Given the description of an element on the screen output the (x, y) to click on. 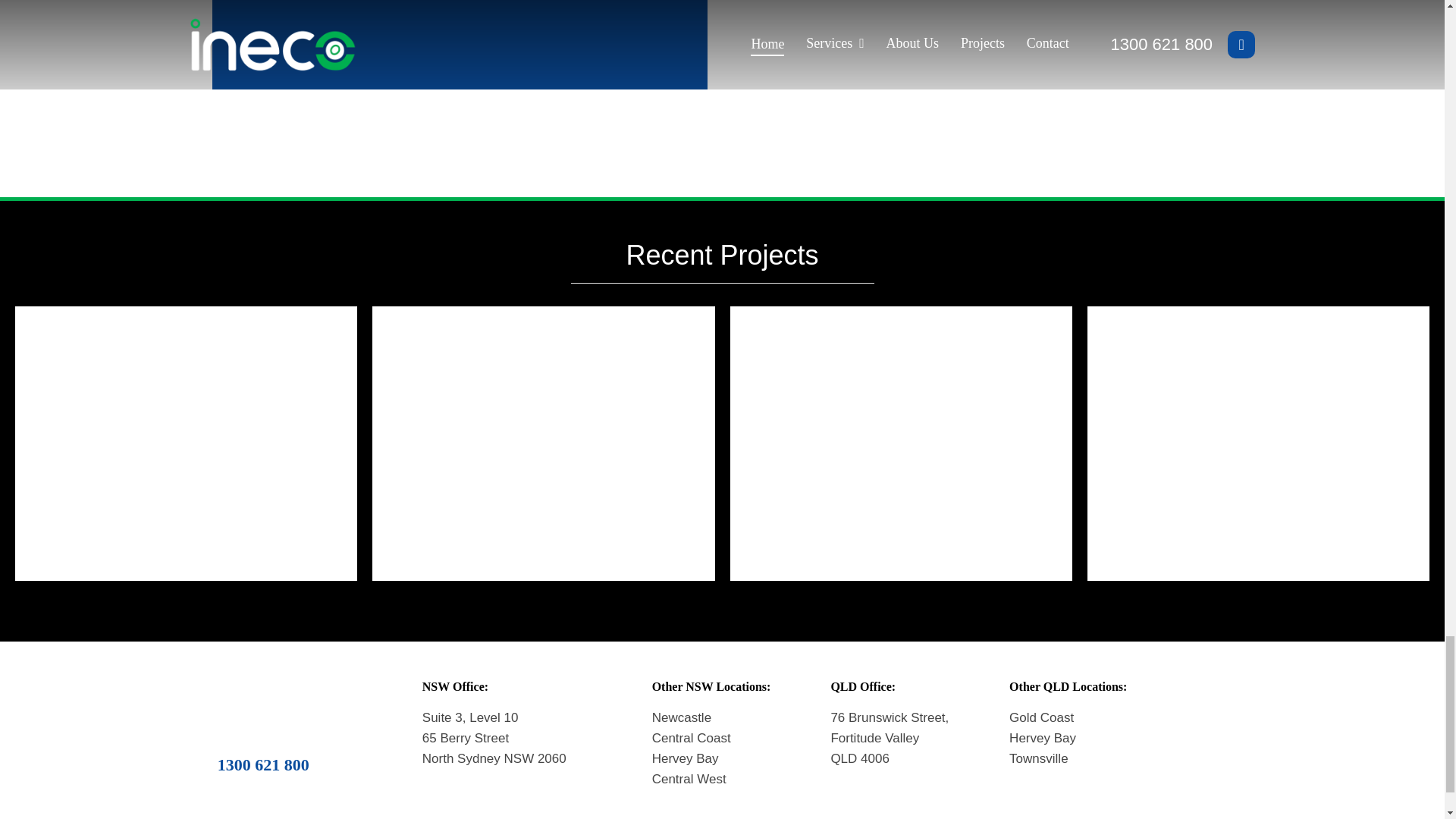
Arenco-logo (315, 26)
Ineco-Logo-TaglineV2-flat-550 (263, 706)
